Given the description of an element on the screen output the (x, y) to click on. 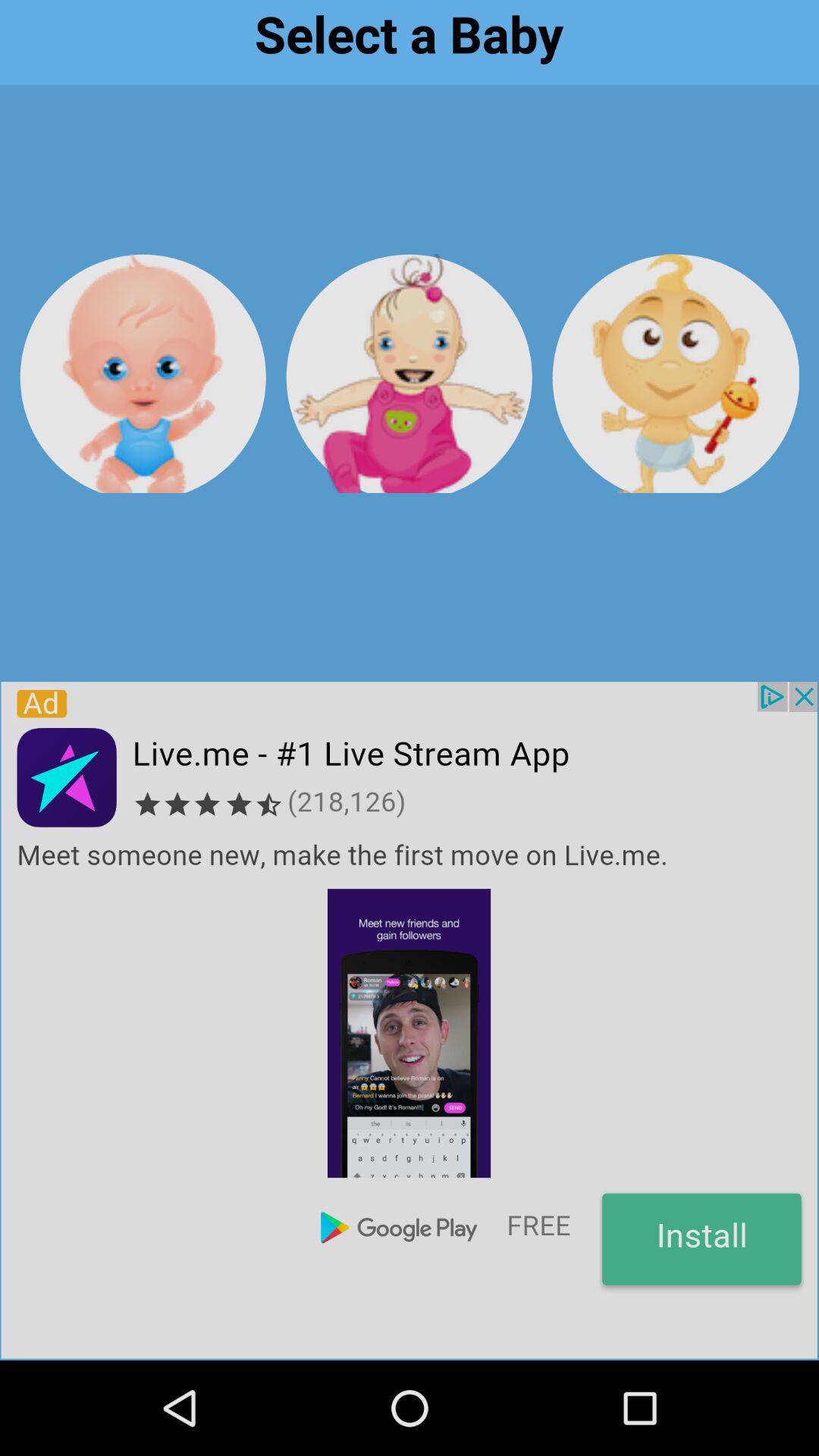
select avatar (142, 373)
